Given the description of an element on the screen output the (x, y) to click on. 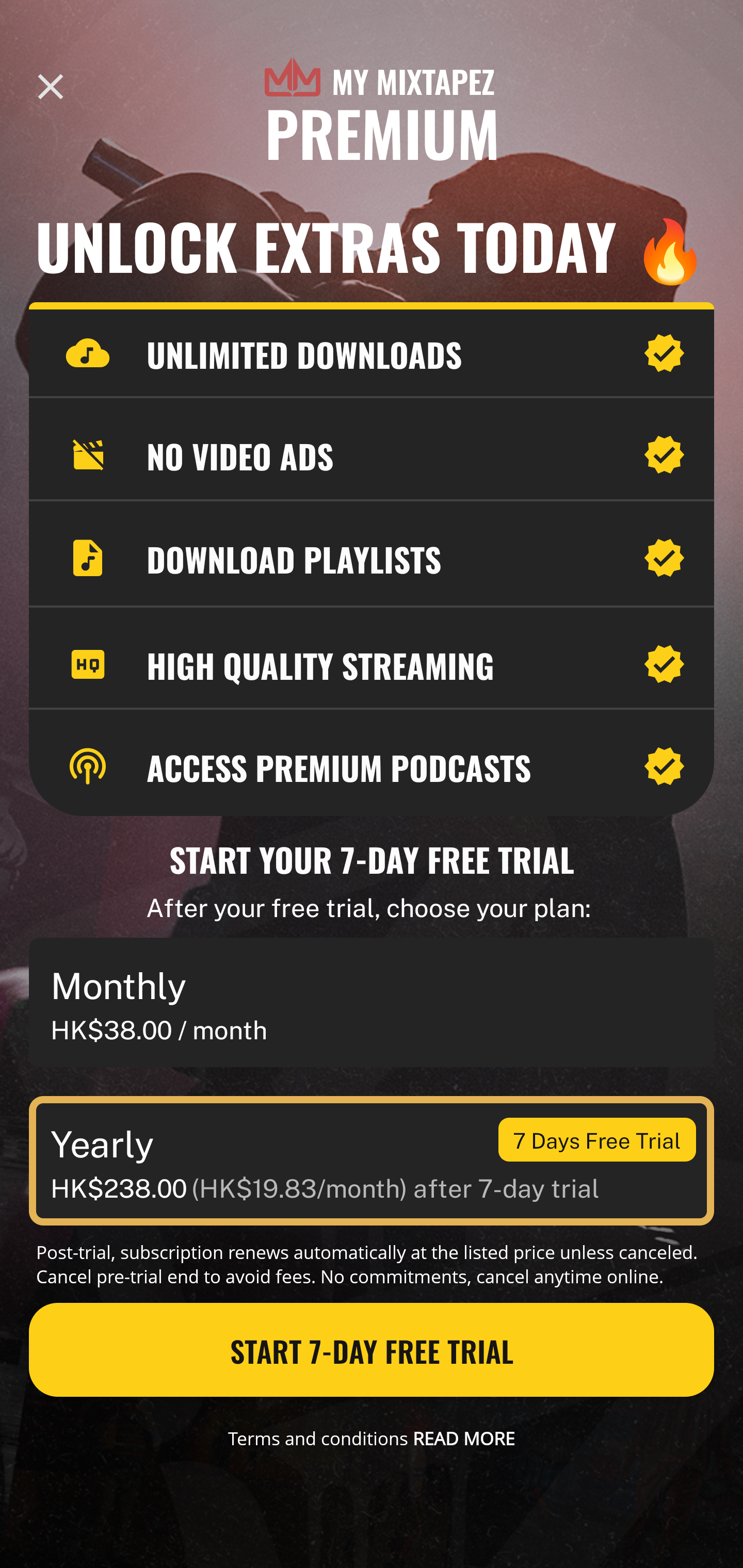
Description (50, 86)
Monthly HK$38.00 / month (371, 1002)
START 7-DAY FREE TRIAL (371, 1350)
Terms and conditions READ MORE (371, 1437)
